Given the description of an element on the screen output the (x, y) to click on. 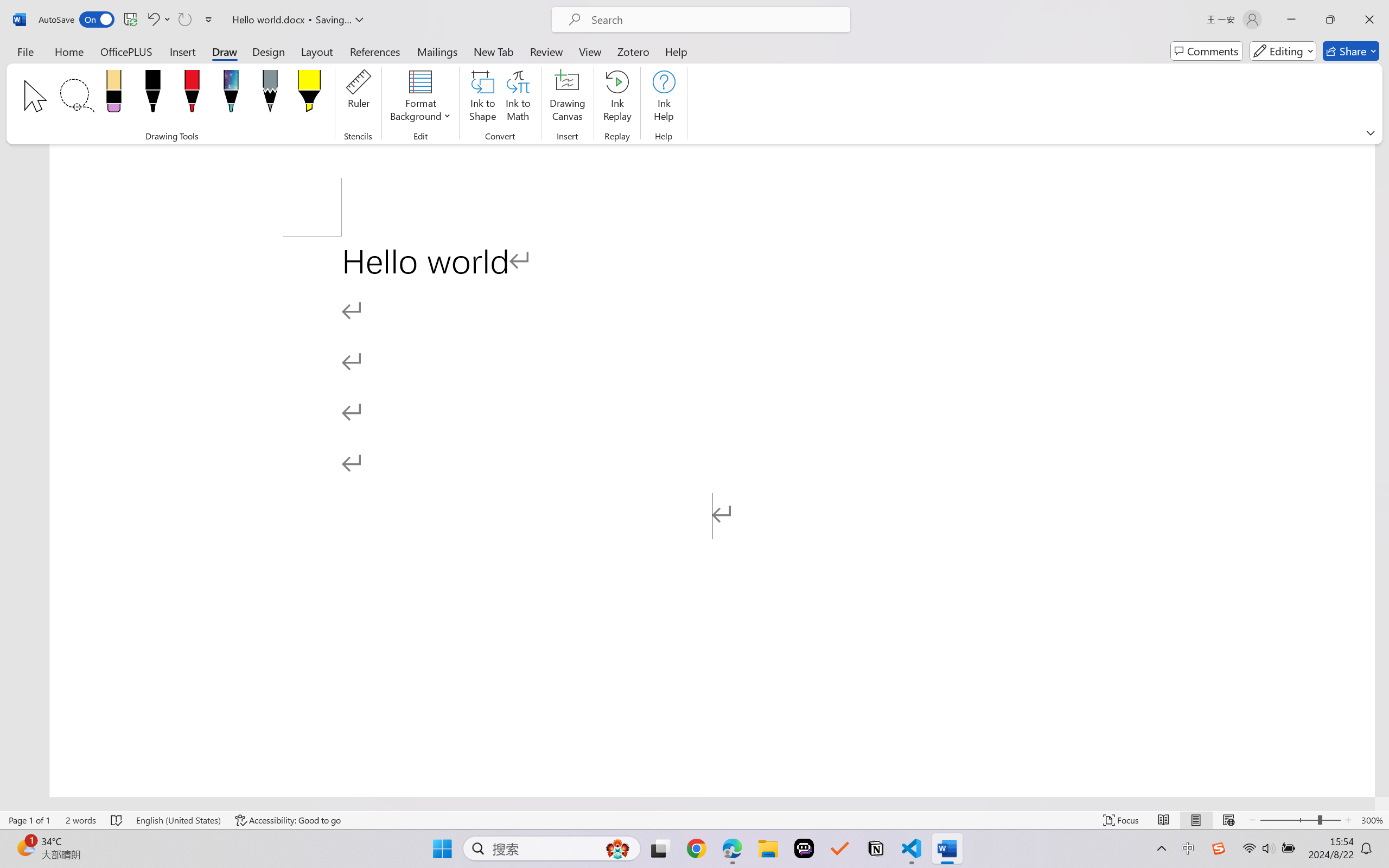
Pen: Galaxy, 1 mm (230, 94)
Mailings (437, 51)
AutomationID: DynamicSearchBoxGleamImage (617, 848)
OfficePLUS (126, 51)
References (375, 51)
Customize Quick Access Toolbar (208, 19)
Zoom (1300, 819)
Class: MsoCommandBar (694, 819)
Comments (1206, 50)
Design (268, 51)
AutoSave (76, 19)
Draw (224, 51)
Format Background (420, 97)
